Given the description of an element on the screen output the (x, y) to click on. 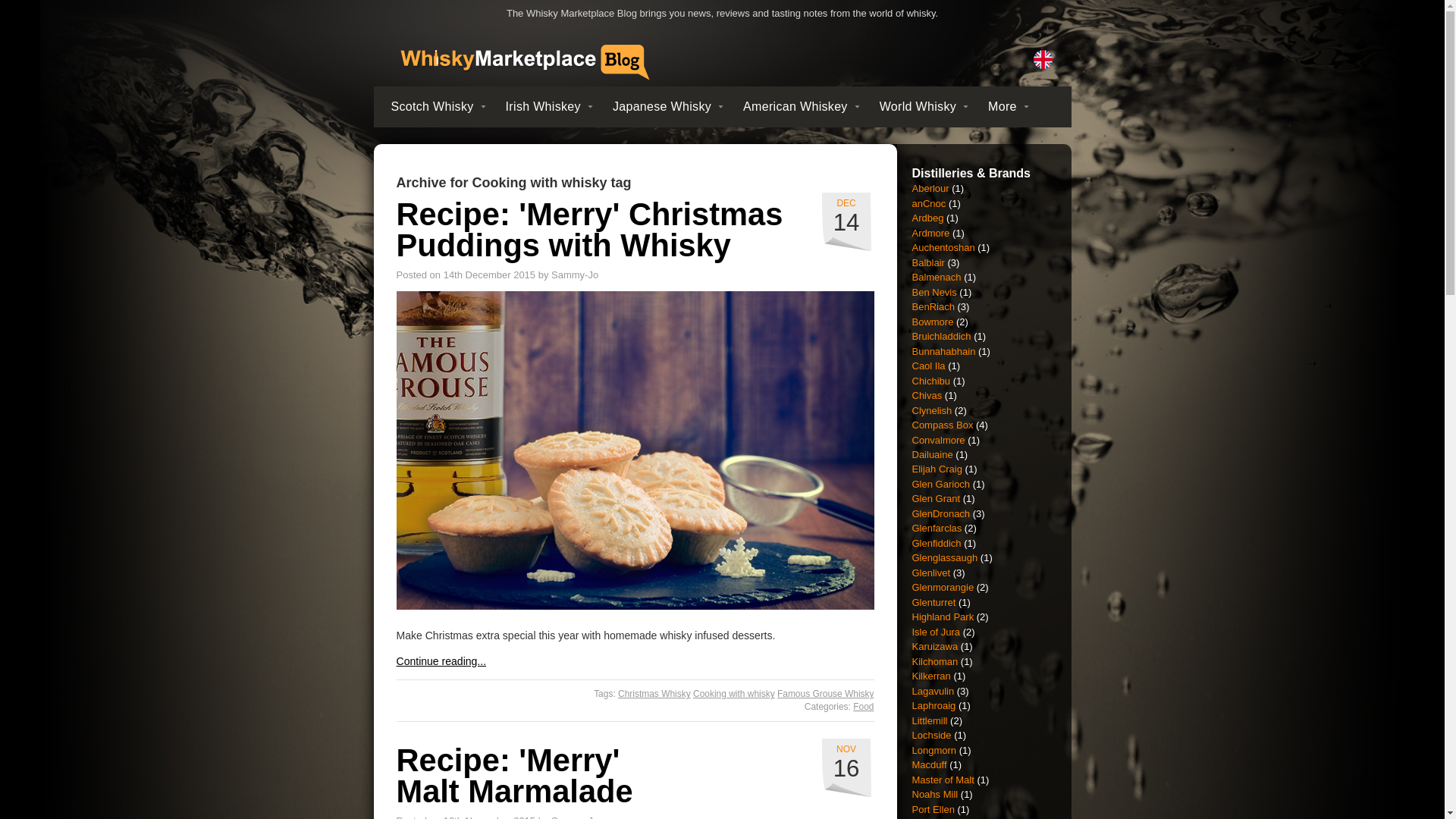
View all posts filed under Aberlour Whisky (930, 188)
Whisky Marketplace Blog (521, 65)
View all posts filed under Bruichladdich Whisky (941, 336)
View all posts filed under Caol Ila Whisky (927, 365)
View all posts filed under Chichibu Whisky (930, 380)
View all posts filed under Ben Nevis Whisky (933, 292)
View all posts filed under Ardmore Whisky (930, 233)
View all posts filed under Balmenach Whisky (935, 276)
View all posts filed under anCnoc Whisky (927, 203)
View all posts filed under Auchentoshan Whisky (942, 247)
Scotch Whisky (438, 106)
View all posts filed under Balblair Whisky (927, 262)
View all posts filed under Clynelish Whisky (931, 410)
View all posts filed under Bowmore Whisky (932, 321)
View all posts filed under Compass Box Whisky (941, 424)
